Given the description of an element on the screen output the (x, y) to click on. 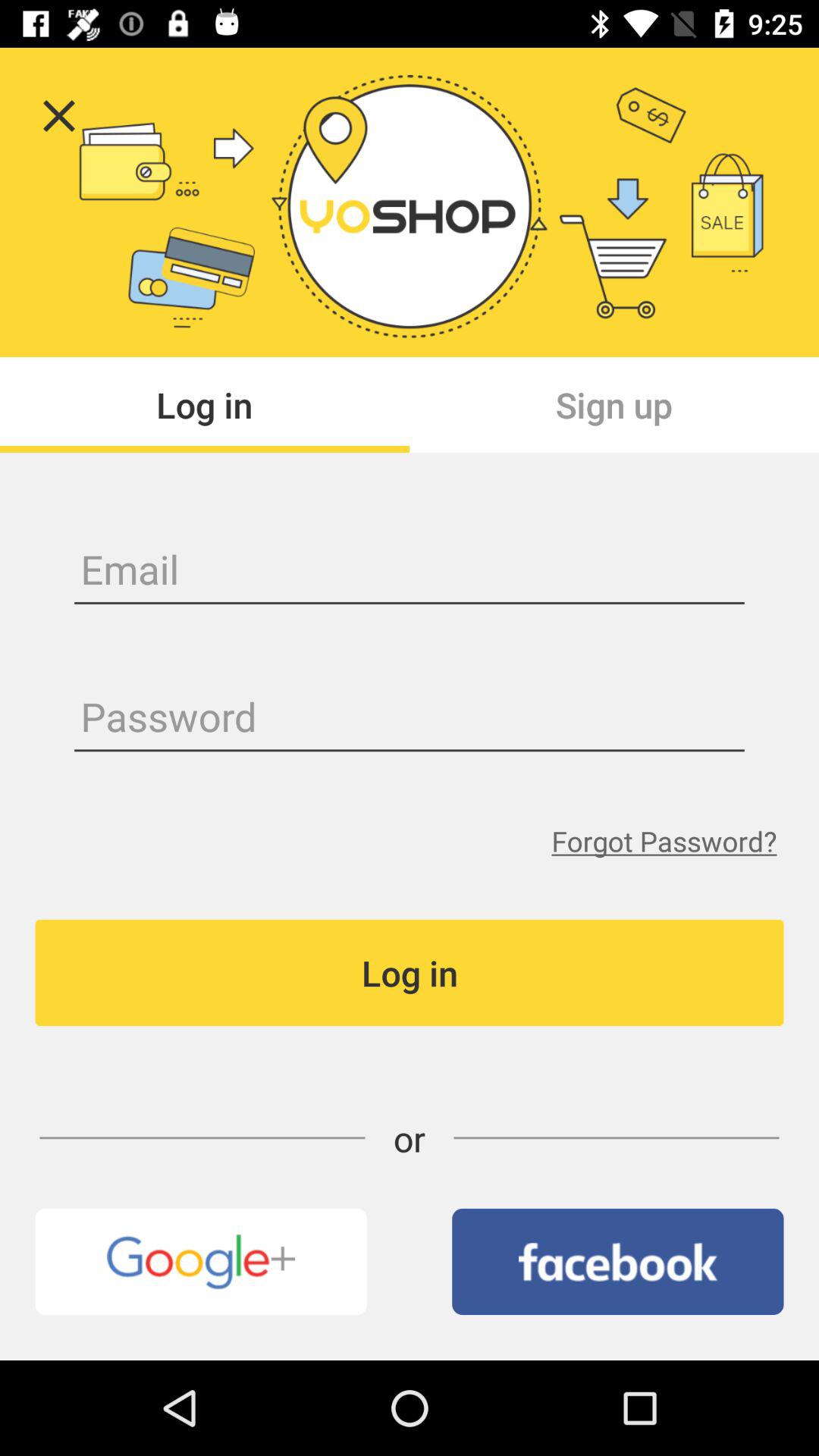
enter password (409, 719)
